Given the description of an element on the screen output the (x, y) to click on. 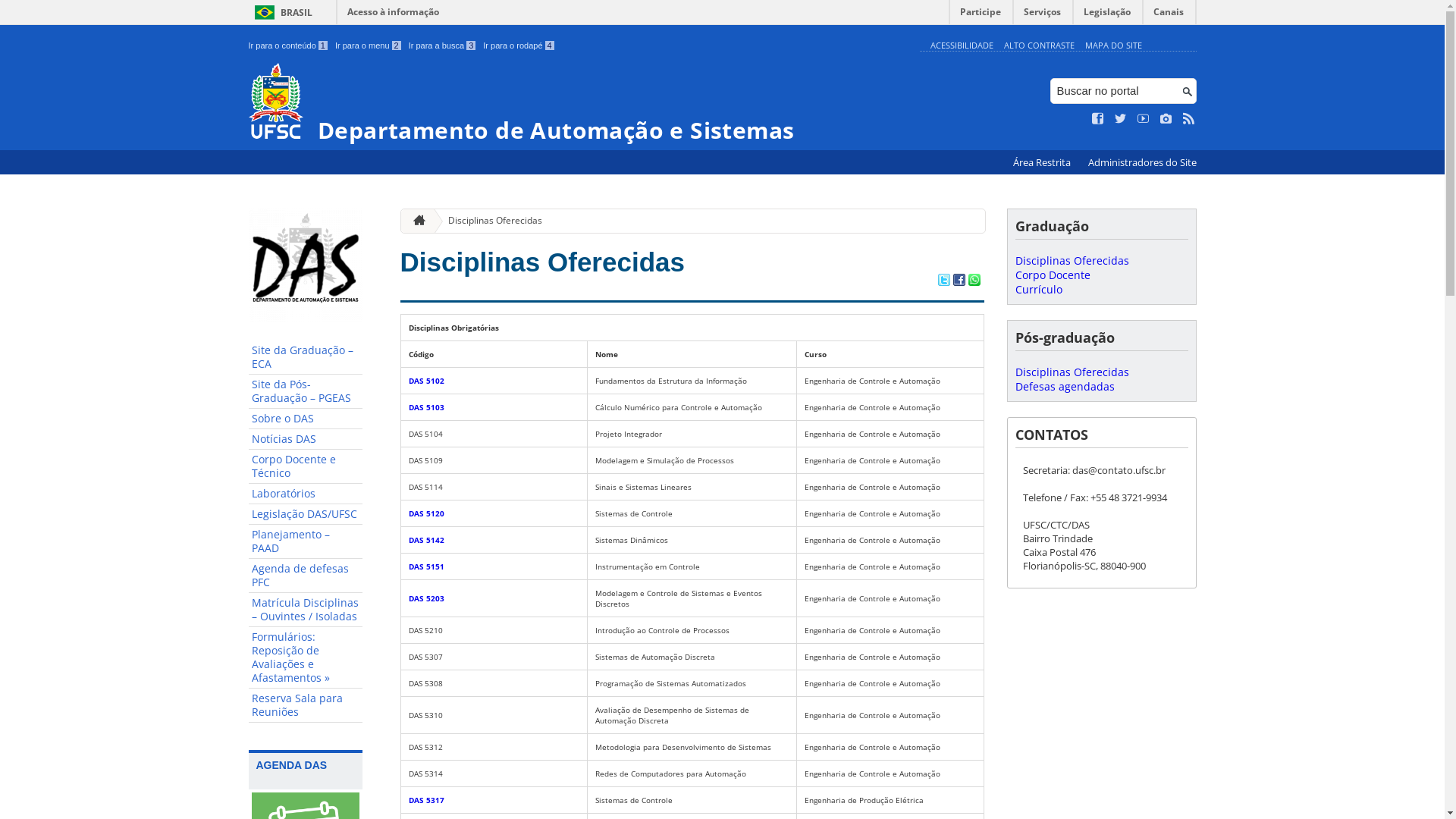
Siga no Twitter Element type: hover (1120, 118)
BRASIL Element type: text (280, 12)
Administradores do Site Element type: text (1141, 162)
Disciplinas Oferecidas Element type: text (1071, 371)
ALTO CONTRASTE Element type: text (1039, 44)
Disciplinas Oferecidas Element type: text (542, 261)
DAS 5151 Element type: text (425, 566)
Participe Element type: text (980, 15)
Ir para a busca 3 Element type: text (442, 45)
Canais Element type: text (1169, 15)
DAS 5142 Element type: text (425, 539)
Ir para o menu 2 Element type: text (368, 45)
Curta no Facebook Element type: hover (1098, 118)
DAS 5317 Element type: text (425, 799)
Compartilhar no Facebook Element type: hover (958, 280)
ACESSIBILIDADE Element type: text (960, 44)
Agenda de defesas PFC Element type: text (305, 575)
DAS 5102 Element type: text (425, 380)
Disciplinas Oferecidas Element type: text (1071, 260)
DAS 5203 Element type: text (425, 598)
Defesas agendadas Element type: text (1063, 386)
DAS 5120 Element type: text (425, 513)
Sobre o DAS Element type: text (305, 418)
Veja no Instagram Element type: hover (1166, 118)
DAS 5103 Element type: text (425, 406)
Disciplinas Oferecidas Element type: text (488, 220)
Corpo Docente Element type: text (1051, 274)
Compartilhar no Twitter Element type: hover (943, 280)
MAPA DO SITE Element type: text (1112, 44)
Compartilhar no WhatsApp Element type: hover (973, 280)
